Given the description of an element on the screen output the (x, y) to click on. 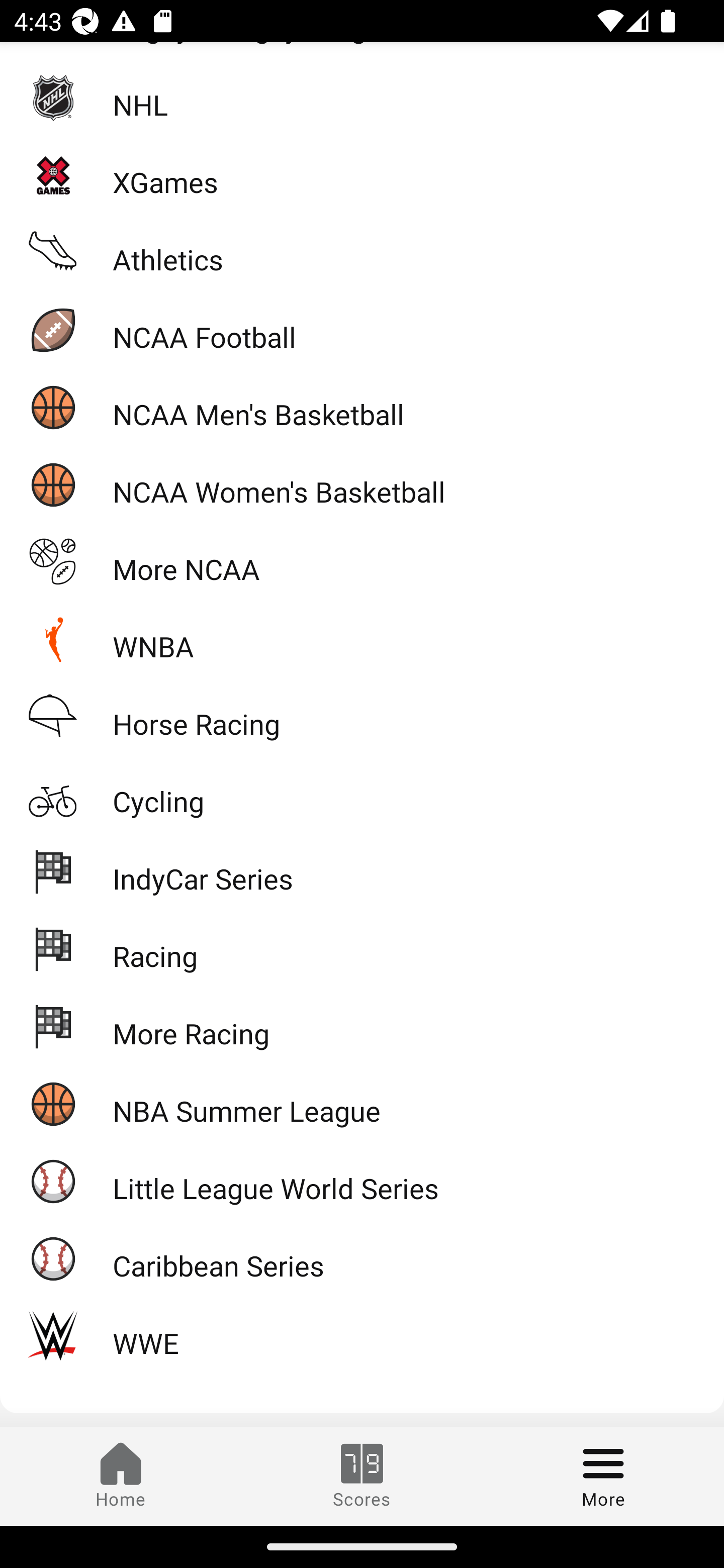
NHL (362, 97)
XGames (362, 174)
Athletics ‹ Athletics (362, 252)
NCAA Football (362, 329)
NCAA Men's Basketball (362, 406)
NCAA Women's Basketball (362, 484)
More NCAA A More NCAA (362, 561)
WNBA (362, 638)
Horse Racing “ Horse Racing (362, 716)
Cycling  Cycling (362, 793)
IndyCar Series (362, 870)
Racing (362, 948)
More Racing (362, 1025)
NBA Summer League (362, 1103)
Little League World Series (362, 1181)
Caribbean Series (362, 1257)
WWE (362, 1335)
Home (120, 1475)
Scores (361, 1475)
